Given the description of an element on the screen output the (x, y) to click on. 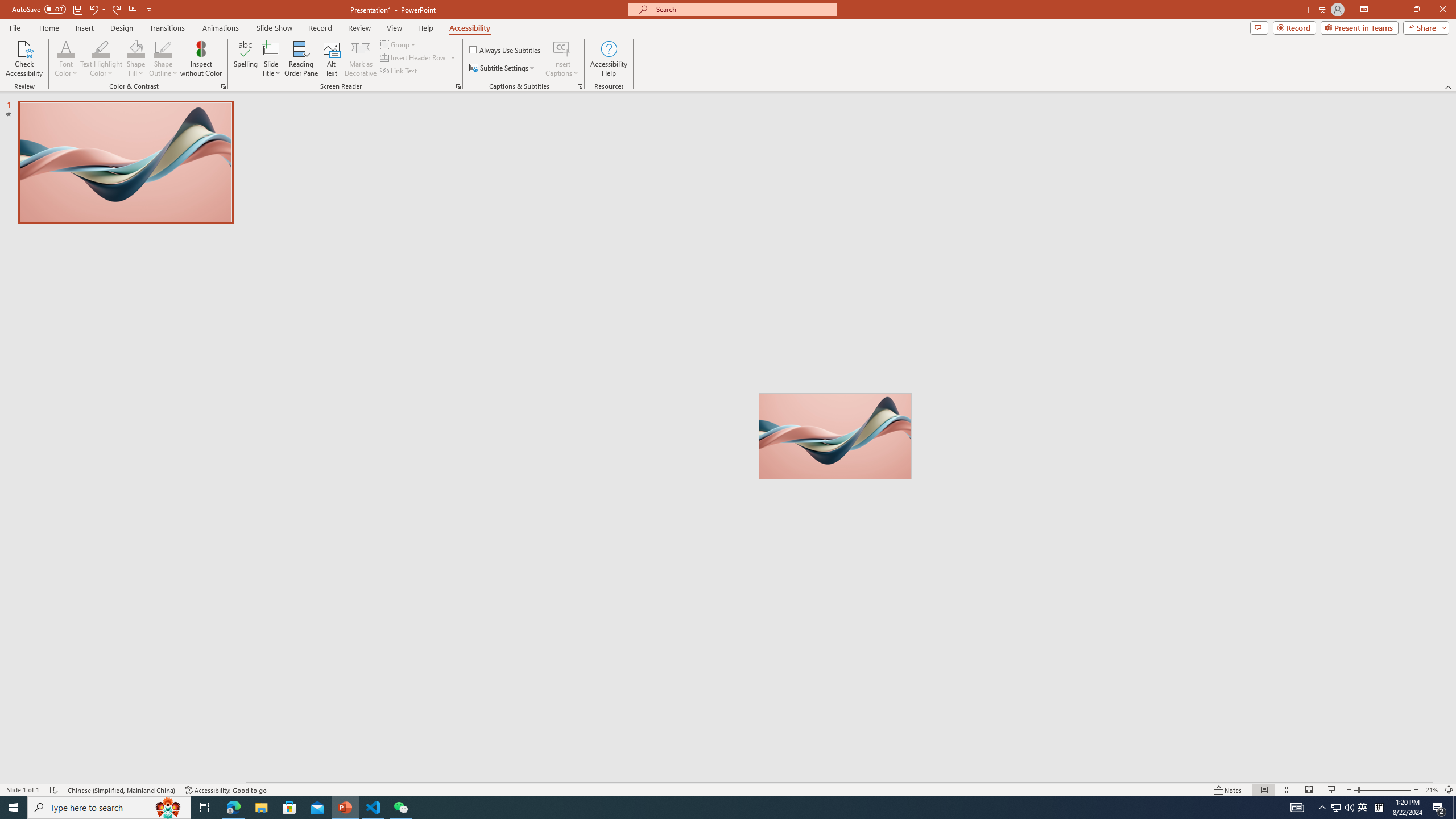
Inspect without Color (201, 58)
